Given the description of an element on the screen output the (x, y) to click on. 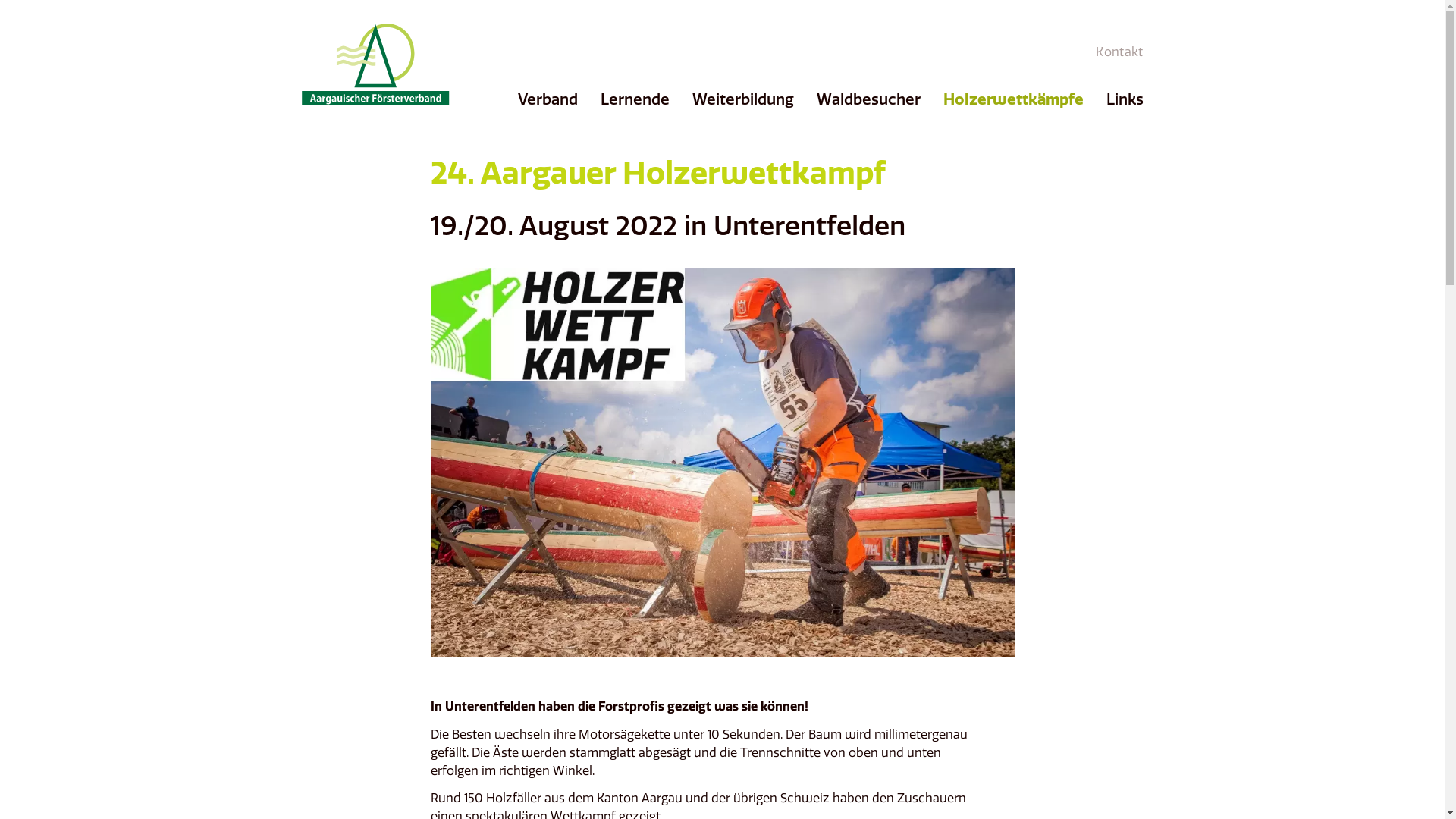
Lernende Element type: text (634, 98)
Kontakt Element type: text (1118, 51)
Verband Element type: text (547, 98)
Weiterbildung Element type: text (742, 98)
Waldbesucher Element type: text (867, 98)
24. Aargauer Holzerwettkampf Element type: text (657, 172)
Links Element type: text (1123, 98)
